Given the description of an element on the screen output the (x, y) to click on. 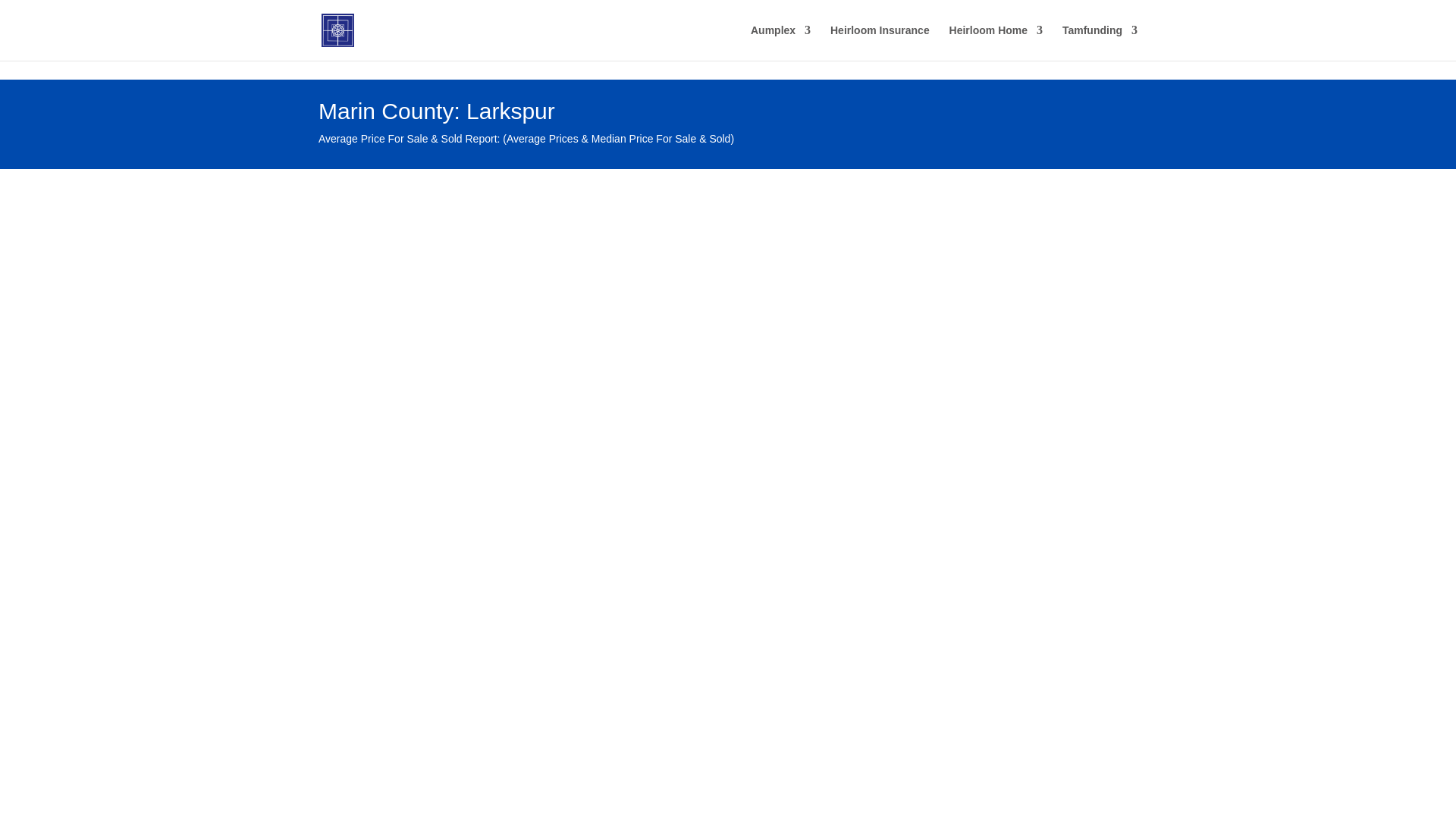
Tamfunding (1099, 42)
Heirloom Insurance (879, 42)
Aumplex (780, 42)
Heirloom Home (995, 42)
